Given the description of an element on the screen output the (x, y) to click on. 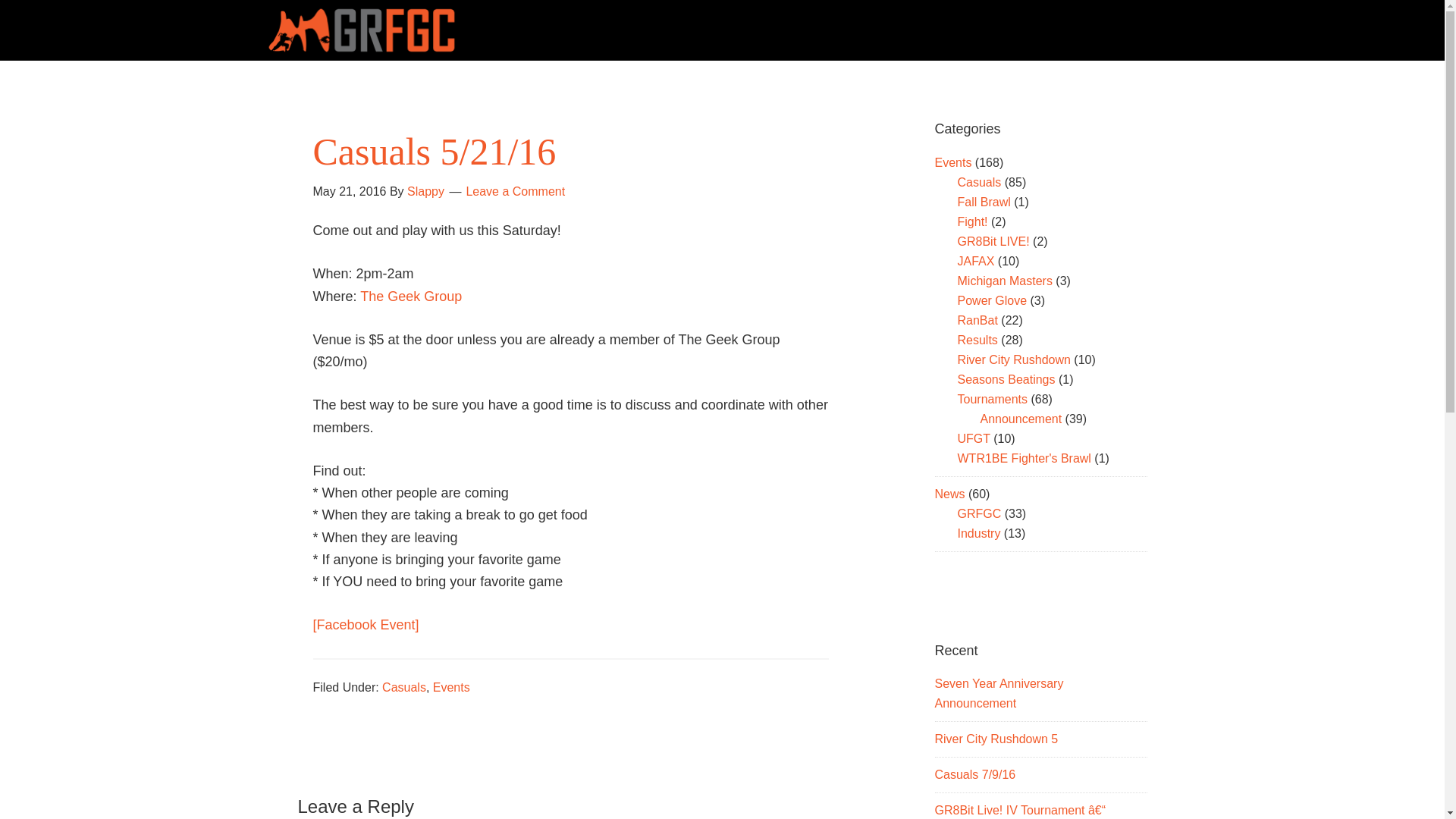
JAFAX (975, 260)
The Geek Group (410, 295)
River City Rushdown (1013, 359)
Michigan Masters (1003, 280)
Events (952, 162)
Seasons Beatings (1005, 379)
Leave a Comment (514, 191)
Seven Year Anniversary Announcement (998, 693)
GRFGC (978, 513)
Results (976, 339)
GR8Bit LIVE! (992, 241)
River City Rushdown 5 (996, 738)
RanBat (976, 319)
Grand Rapids Fighting Game Community (721, 30)
Casuals (978, 182)
